Given the description of an element on the screen output the (x, y) to click on. 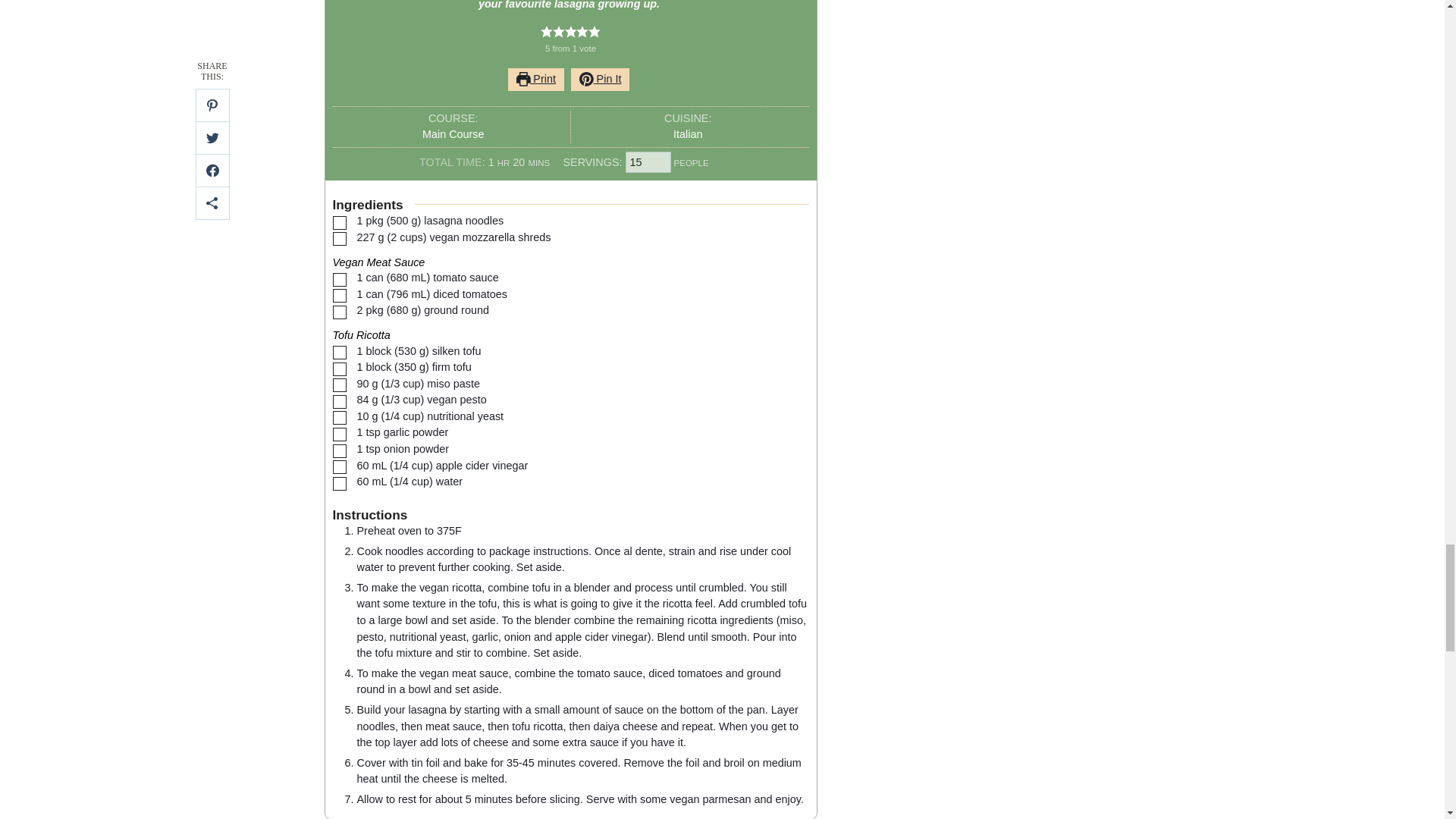
15 (648, 161)
